Given the description of an element on the screen output the (x, y) to click on. 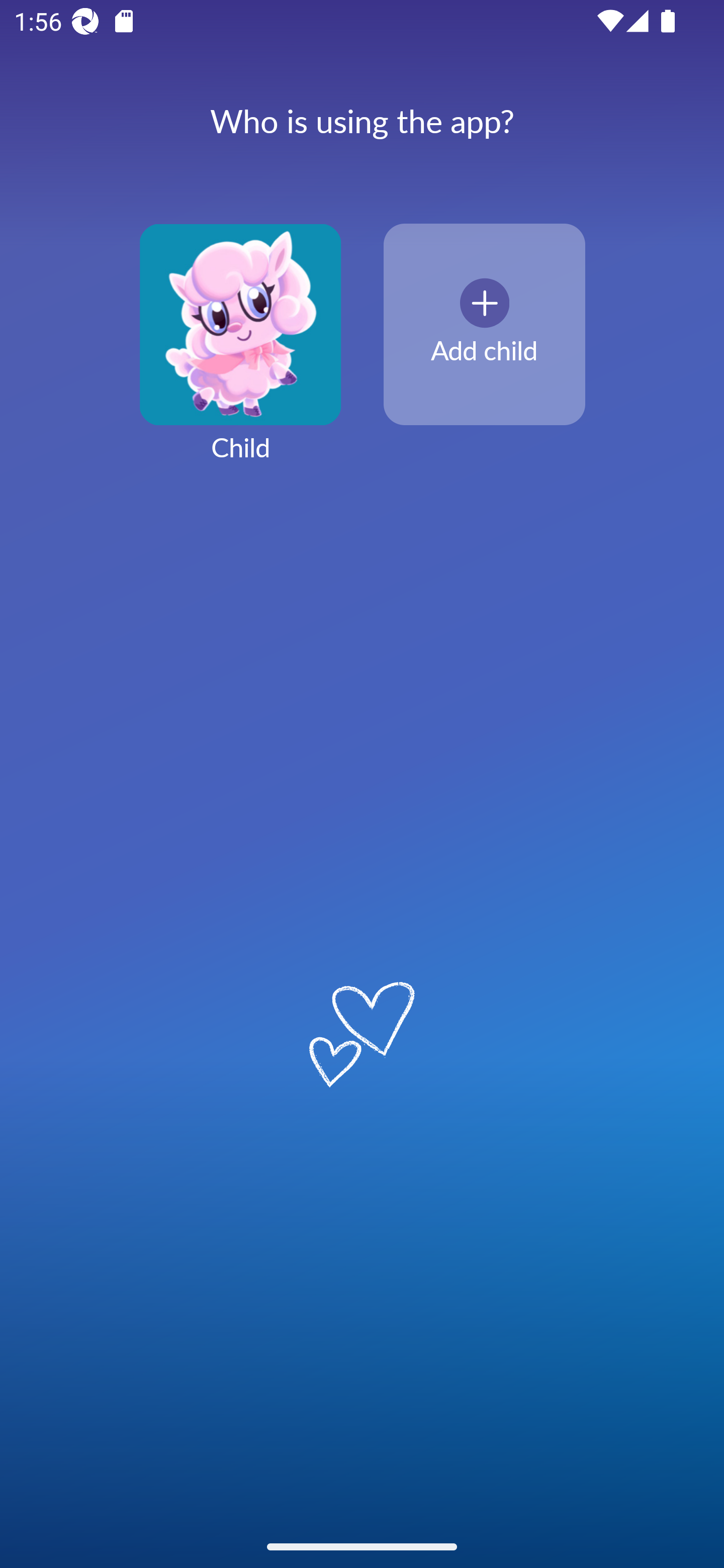
Child (240, 354)
Add child (483, 324)
